Given the description of an element on the screen output the (x, y) to click on. 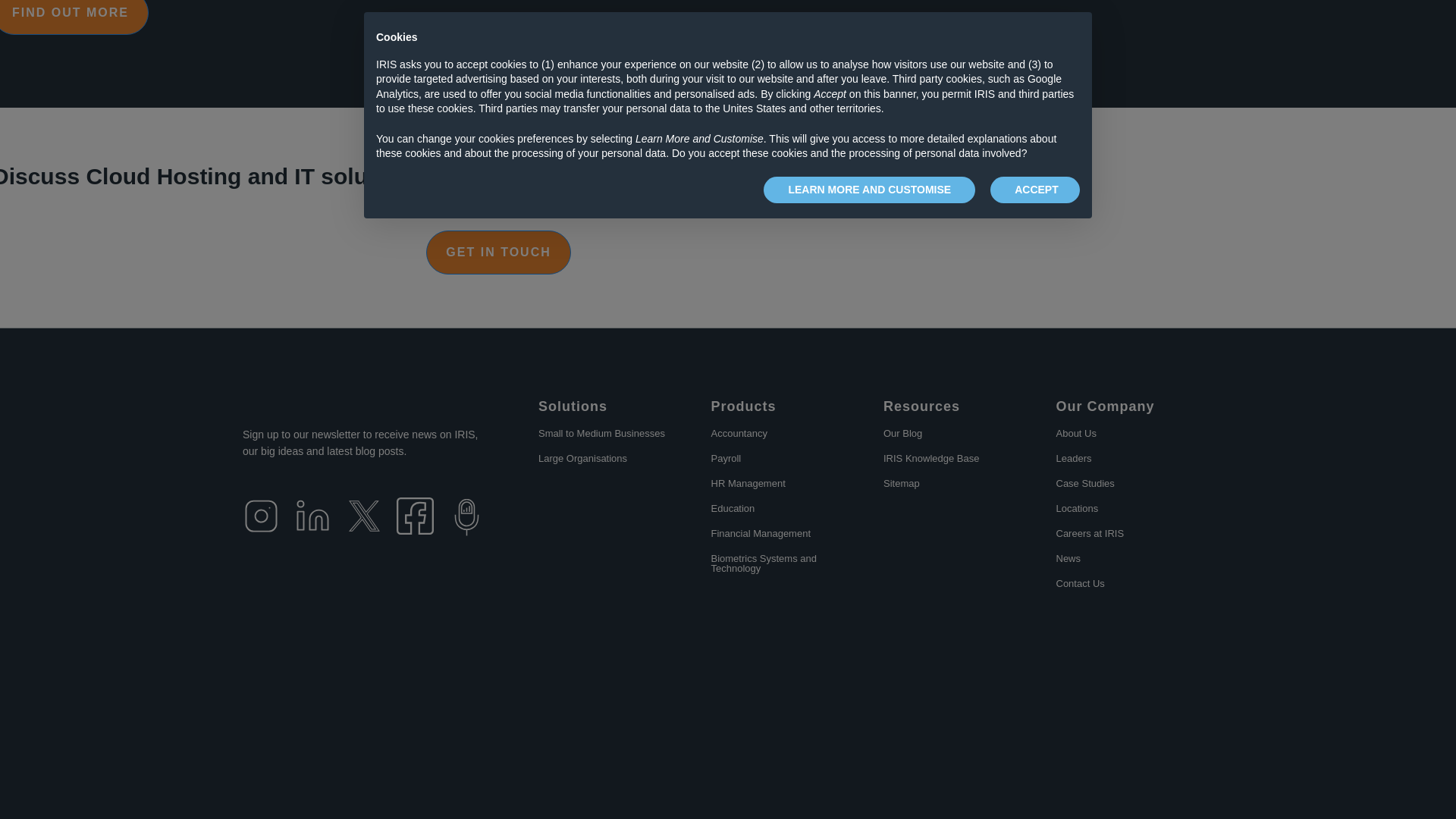
Follow IRIS Podcasts IRIS Software Group Podcasts (466, 532)
Follow IRIS Podcasts IRIS Software Group Podcasts (466, 517)
